Given the description of an element on the screen output the (x, y) to click on. 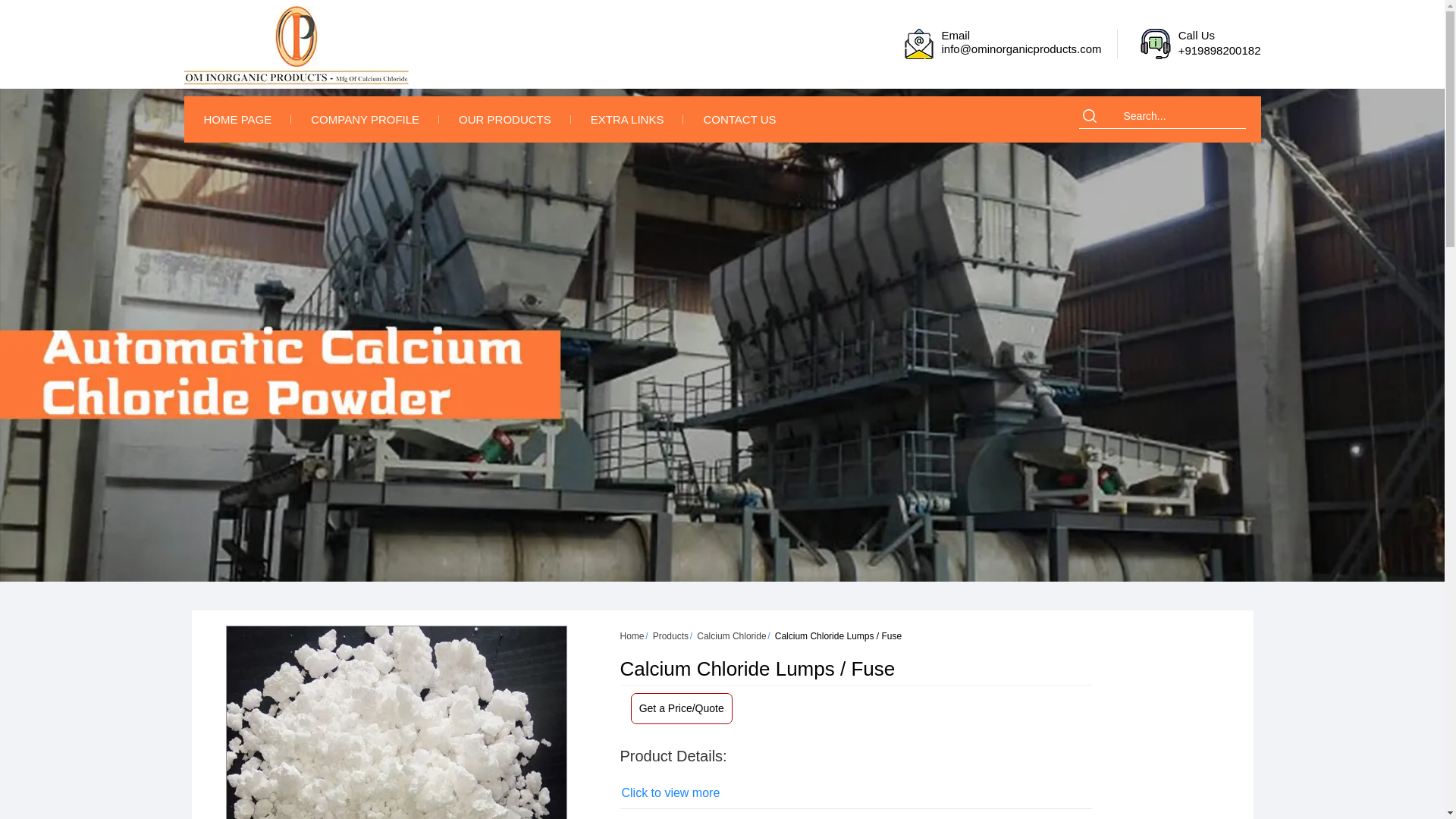
Om Inorganic Products (295, 45)
COMPANY PROFILE (365, 119)
HOME PAGE (237, 119)
Search... (1178, 115)
Call Us (1155, 43)
CONTACT US (738, 119)
Products (670, 635)
Home (632, 635)
OUR PRODUCTS (504, 119)
EXTRA LINKS (627, 119)
